Given the description of an element on the screen output the (x, y) to click on. 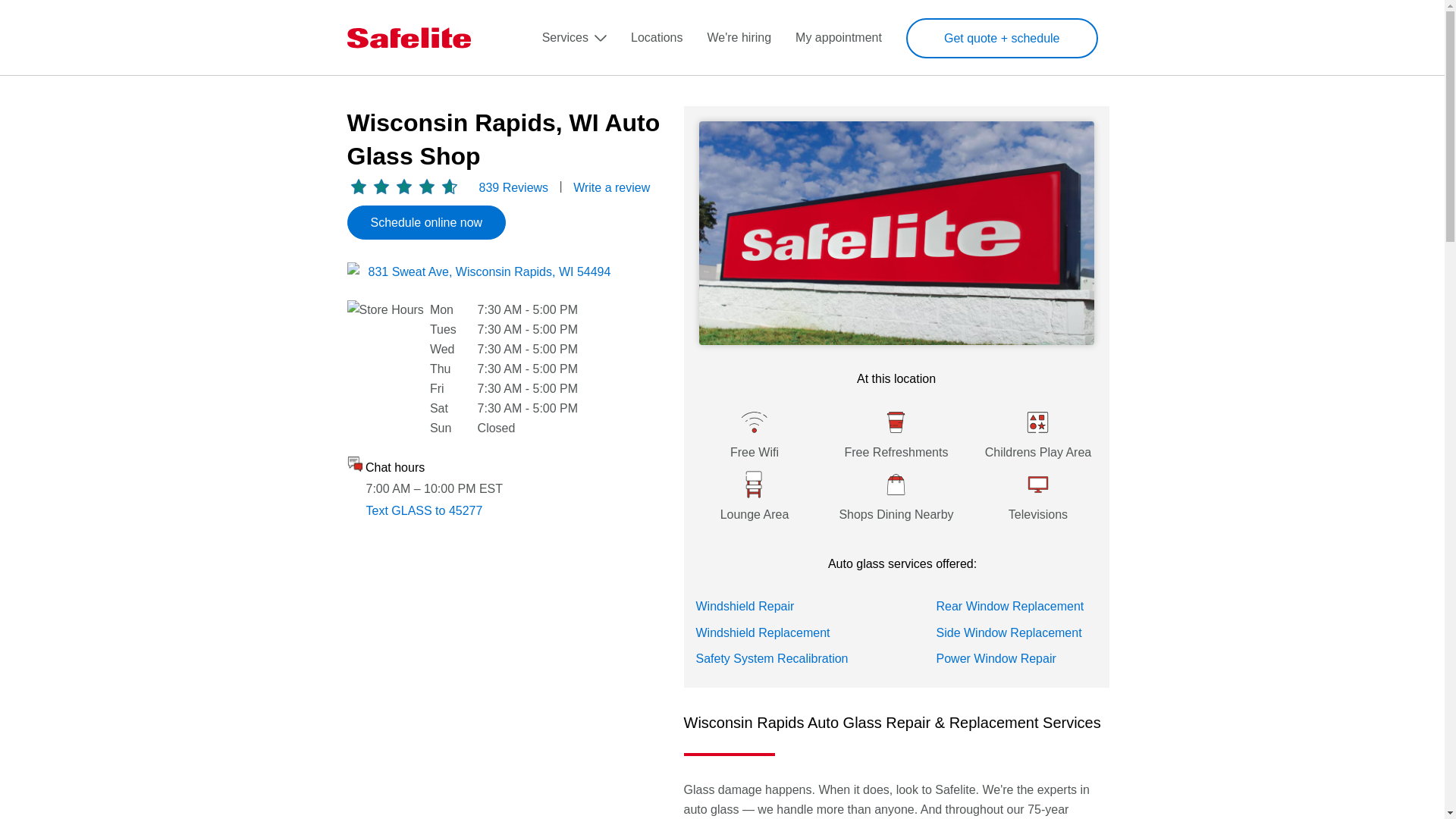
Safety System Recalibration (771, 658)
831 Sweat Ave, Wisconsin Rapids, WI 54494 (489, 271)
My appointment (838, 37)
Rear Window Replacement (1009, 605)
Rated 4.7 out of 5 (404, 186)
Power Window Repair (995, 658)
839 Reviews (513, 187)
Write a review (611, 187)
Text GLASS to 45277 (423, 510)
Schedule online now (426, 222)
